Given the description of an element on the screen output the (x, y) to click on. 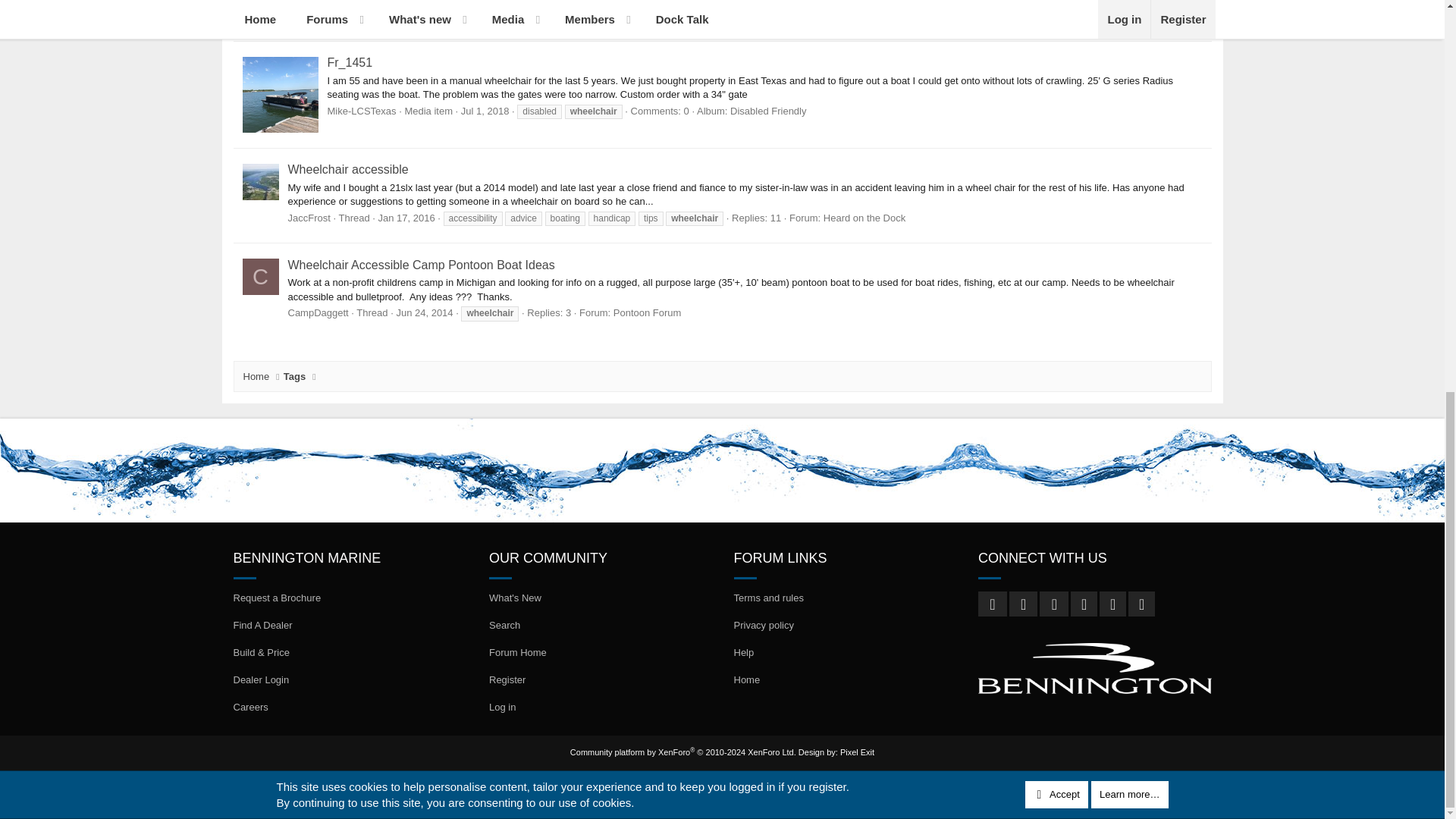
Jun 24, 2014 at 5:47 PM (424, 312)
Jul 1, 2018 at 12:10 AM (485, 111)
Jan 17, 2016 at 3:41 PM (406, 217)
